Given the description of an element on the screen output the (x, y) to click on. 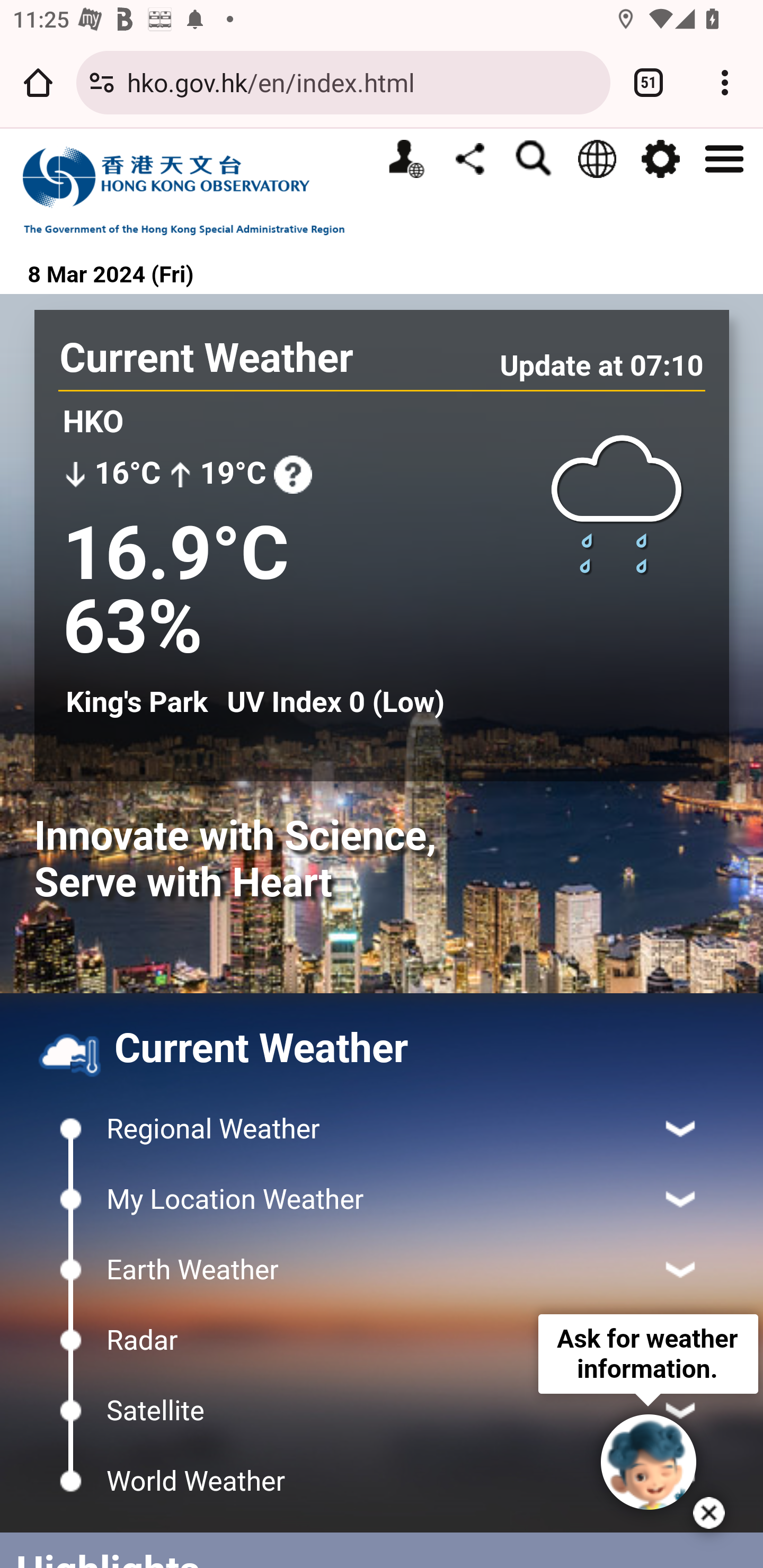
Open the home page (38, 82)
Connection is secure (101, 82)
Switch or close tabs (648, 82)
Customize and control Google Chrome (724, 82)
hko.gov.hk/en/index.html (362, 82)
Hong Kong Observatory (192, 190)
Personalized Website Personalized Website (405, 159)
Search Search (533, 159)
Language Language (596, 159)
Setting Setting (659, 159)
Share Share (469, 158)
Menu Menu (723, 157)
Current Weather (206, 357)
Light Rain (617, 503)
Help (292, 473)
UV Index 0 (Low) (334, 702)
Regional Weather (381, 1128)
My Location Weather (381, 1199)
Earth Weather (381, 1269)
Radar (381, 1340)
Satellite (381, 1410)
Chat with Dr. Tin (648, 1461)
World Weather (381, 1480)
Close (708, 1512)
